Given the description of an element on the screen output the (x, y) to click on. 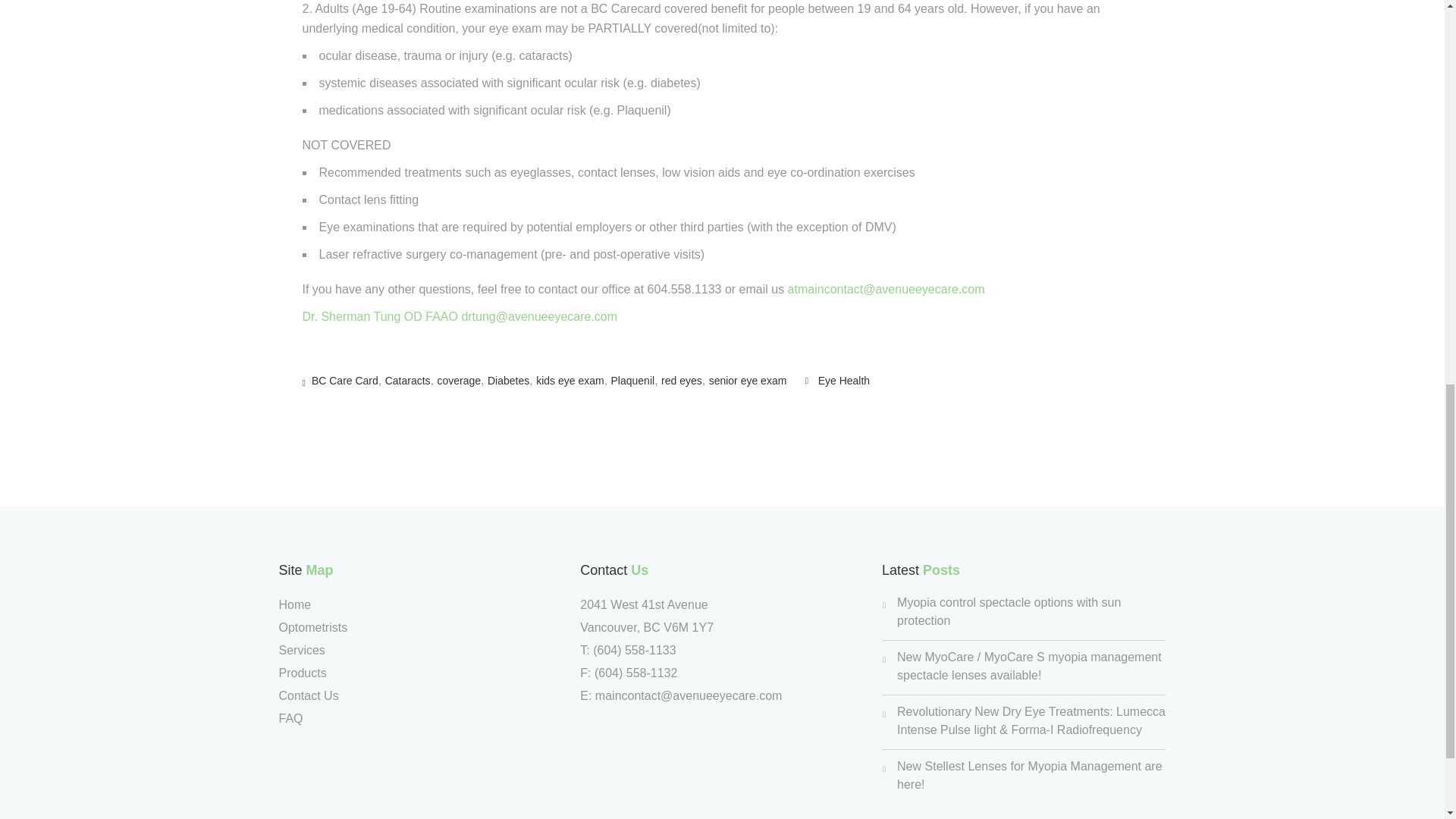
Dr. Sherman Tung OD FAAO (379, 316)
BC Care Card (344, 380)
Cataracts (407, 380)
Email Avenue Eyecare (886, 288)
Email Dr. Tung (539, 316)
About Dr. Sherman Tung (379, 316)
